Given the description of an element on the screen output the (x, y) to click on. 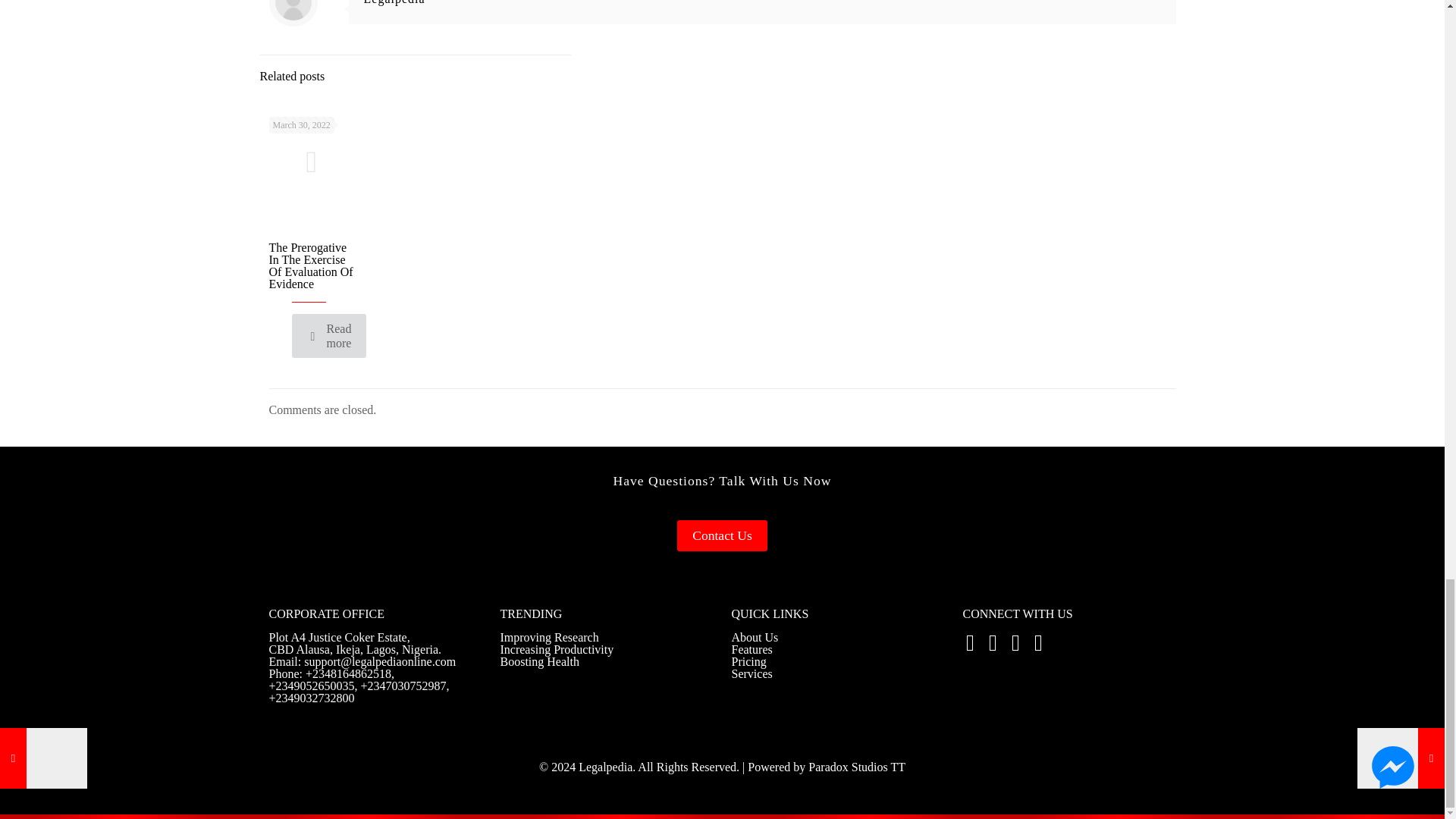
The Prerogative In The Exercise Of Evaluation Of Evidence (309, 265)
Contact Us (722, 535)
Legalpedia (394, 2)
Read more (328, 335)
